Given the description of an element on the screen output the (x, y) to click on. 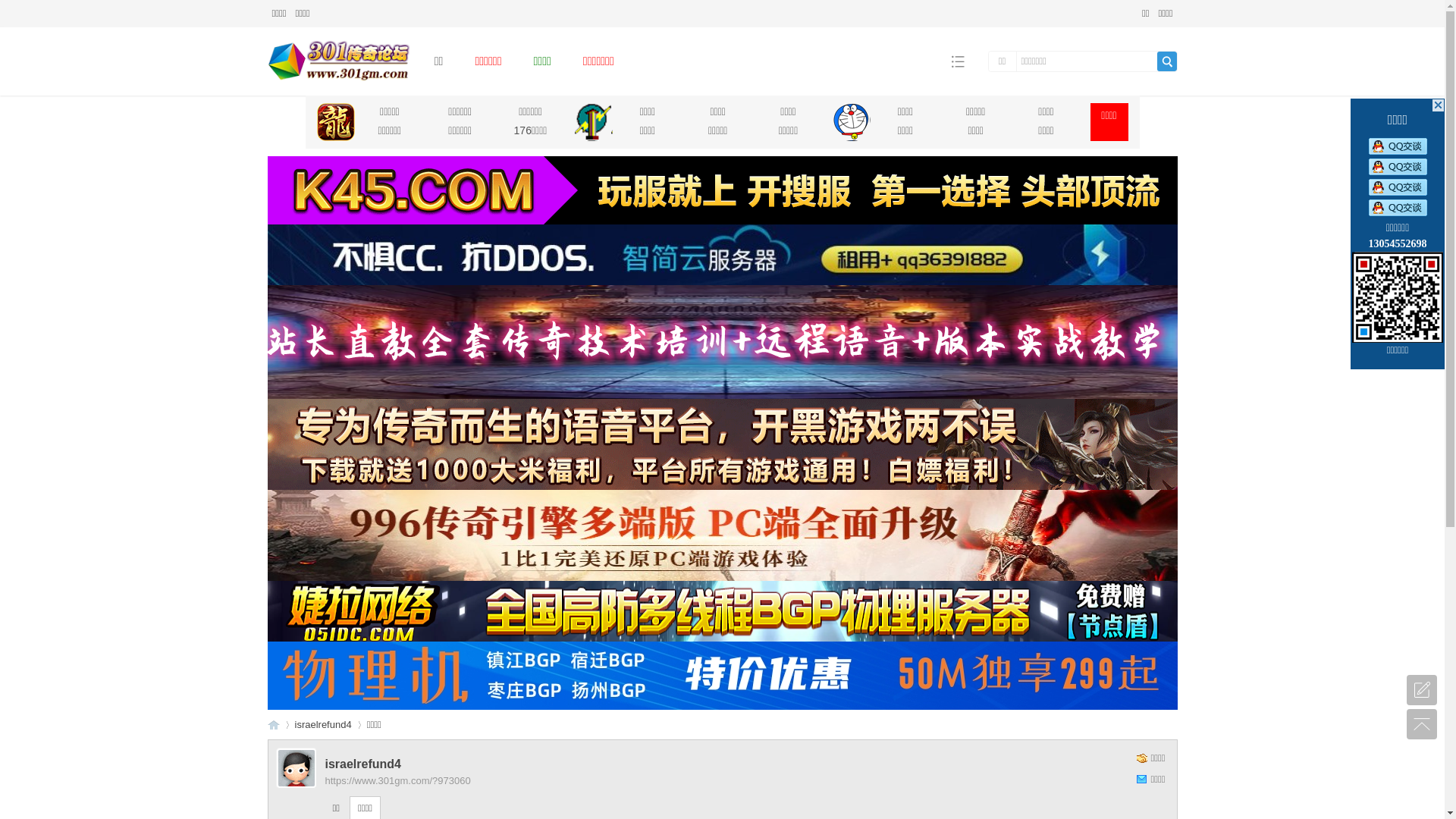
  Element type: text (1437, 105)
123213 Element type: hover (721, 254)
123123 Element type: hover (721, 675)
israelrefund4 Element type: text (322, 724)
true Element type: text (1166, 61)
11 Element type: hover (721, 190)
https://www.301gm.com/?973060 Element type: text (397, 780)
jiaoxue Element type: hover (721, 341)
996 Element type: hover (721, 534)
